Given the description of an element on the screen output the (x, y) to click on. 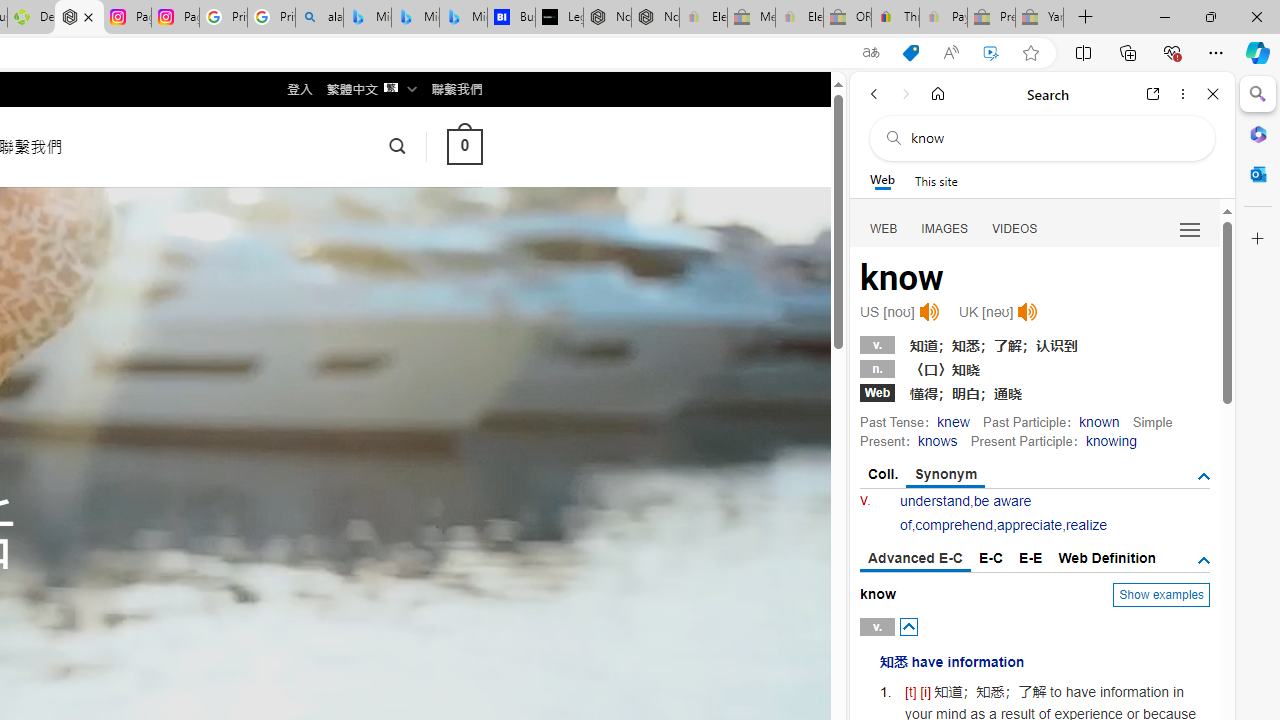
Web Definition (1106, 557)
Microsoft Bing Travel - Flights from Hong Kong to Bangkok (367, 17)
Click to listen (1027, 312)
be aware of (965, 512)
